Given the description of an element on the screen output the (x, y) to click on. 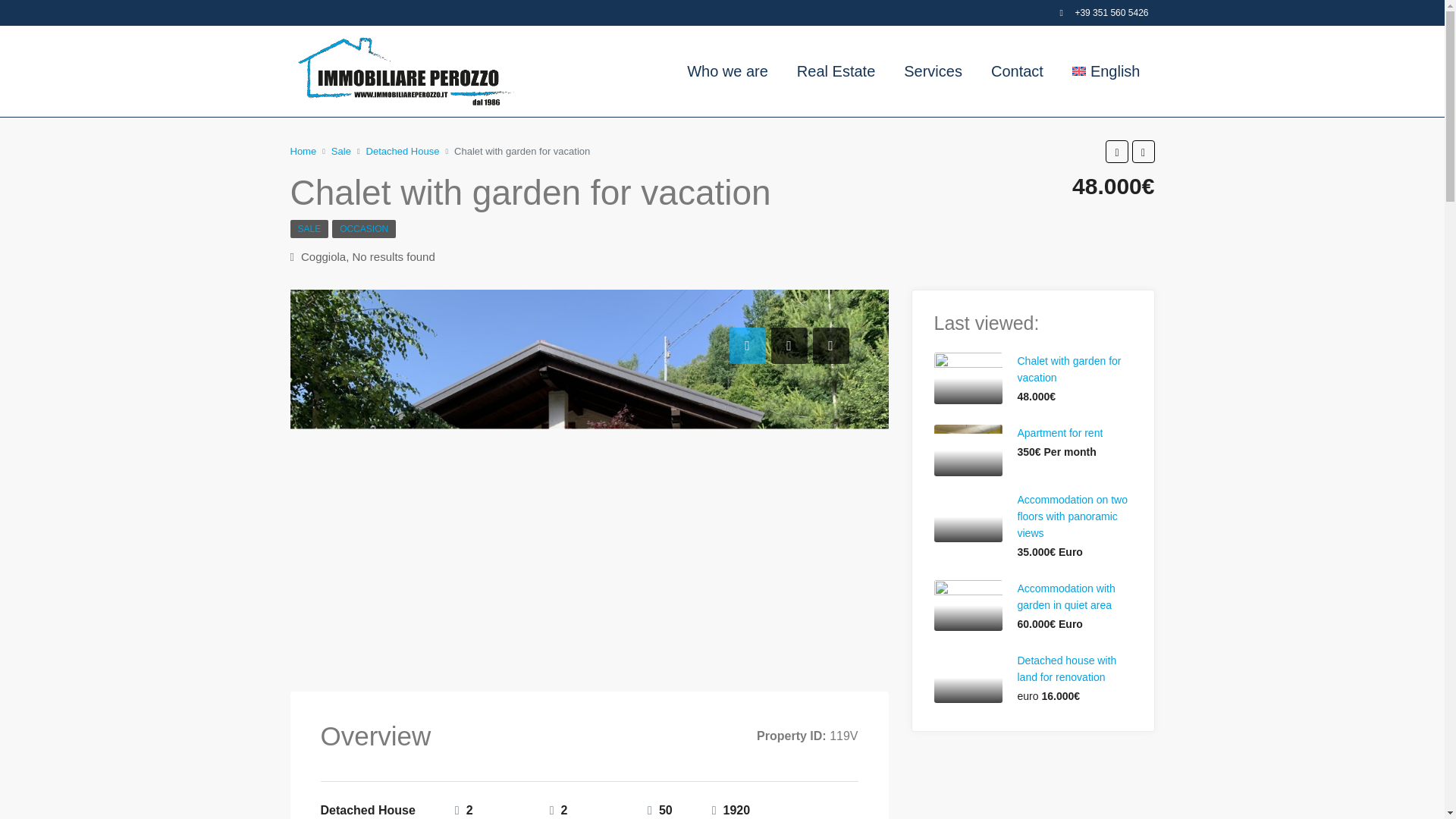
Sale (340, 151)
OCCASION (363, 229)
SALE (309, 229)
English (1106, 71)
Detached House (402, 151)
Contact (1017, 71)
Who we are (727, 71)
Home (302, 151)
Real Estate (836, 71)
English (1106, 71)
